Given the description of an element on the screen output the (x, y) to click on. 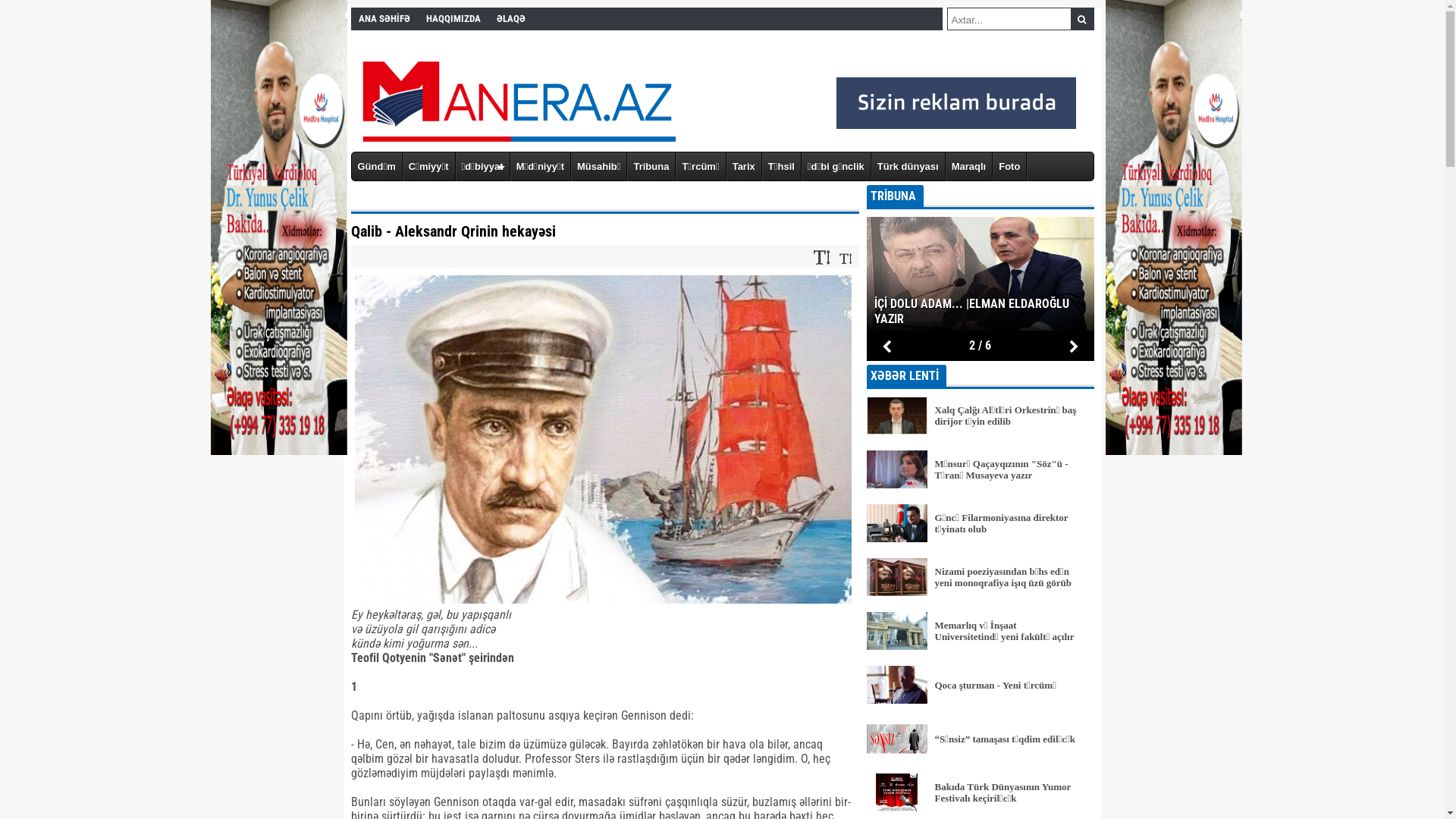
Tribuna Element type: text (651, 166)
Tarix Element type: text (744, 166)
HAQQIMIZDA Element type: text (452, 18)
Foto Element type: text (1009, 166)
manera.az Element type: hover (729, 94)
